Given the description of an element on the screen output the (x, y) to click on. 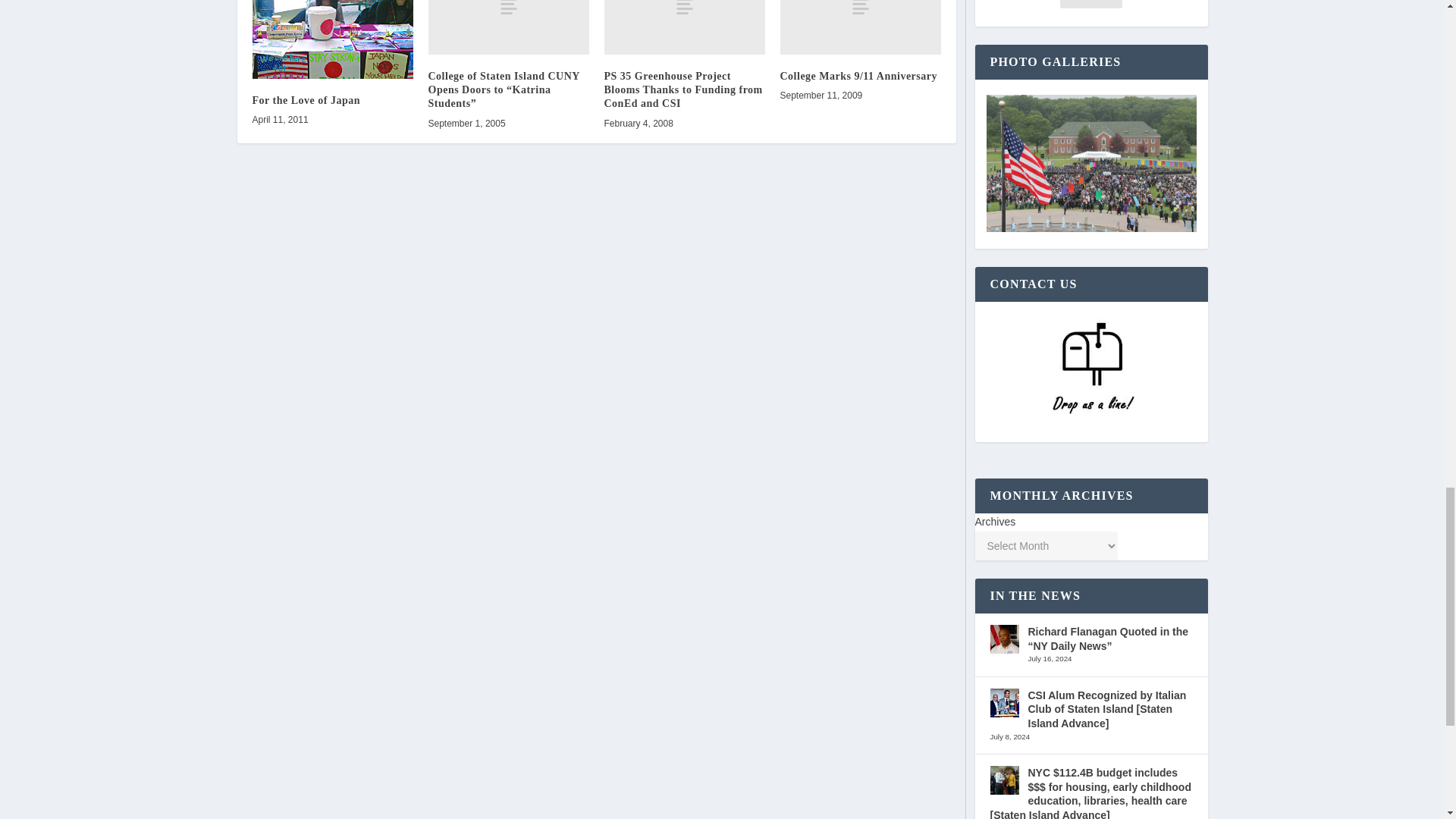
For the Love of Japan (331, 39)
Sign up (1090, 4)
